Given the description of an element on the screen output the (x, y) to click on. 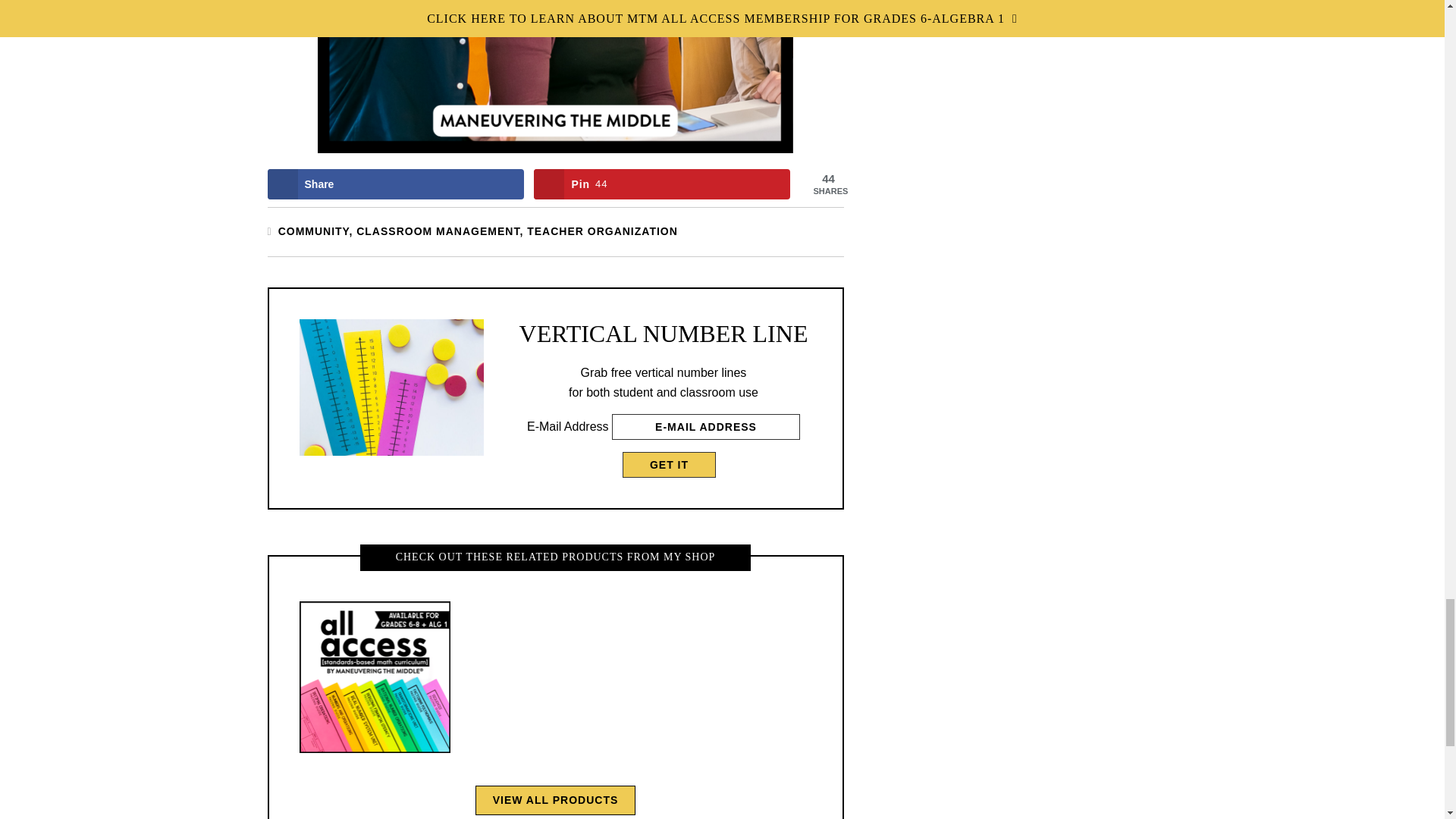
Share on Facebook (394, 183)
Share (394, 183)
CLASSROOM MANAGEMENT (437, 231)
GET IT (662, 183)
GET IT (669, 464)
COMMUNITY (669, 464)
Save to Pinterest (313, 231)
VIEW ALL PRODUCTS (662, 183)
TEACHER ORGANIZATION (556, 799)
